Given the description of an element on the screen output the (x, y) to click on. 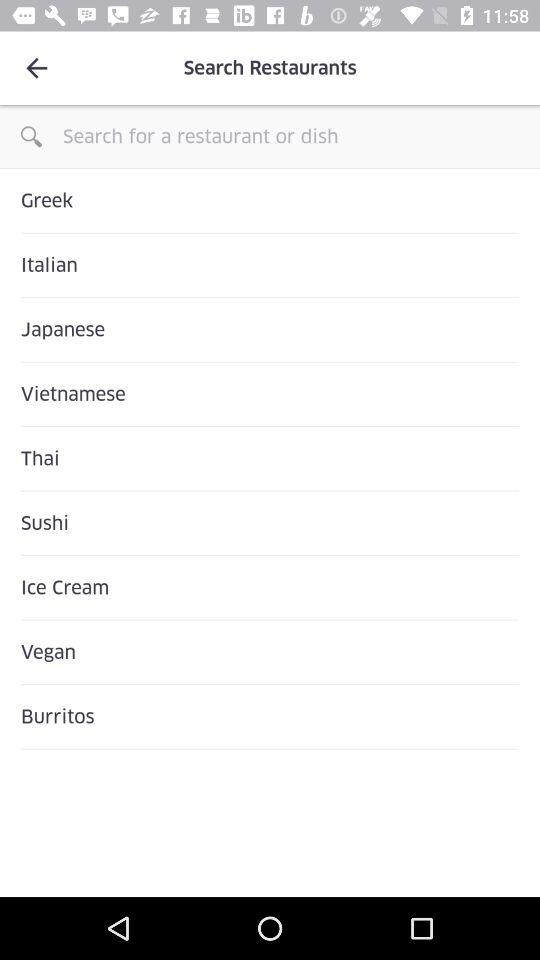
select the item to the left of the search restaurants (36, 68)
